Given the description of an element on the screen output the (x, y) to click on. 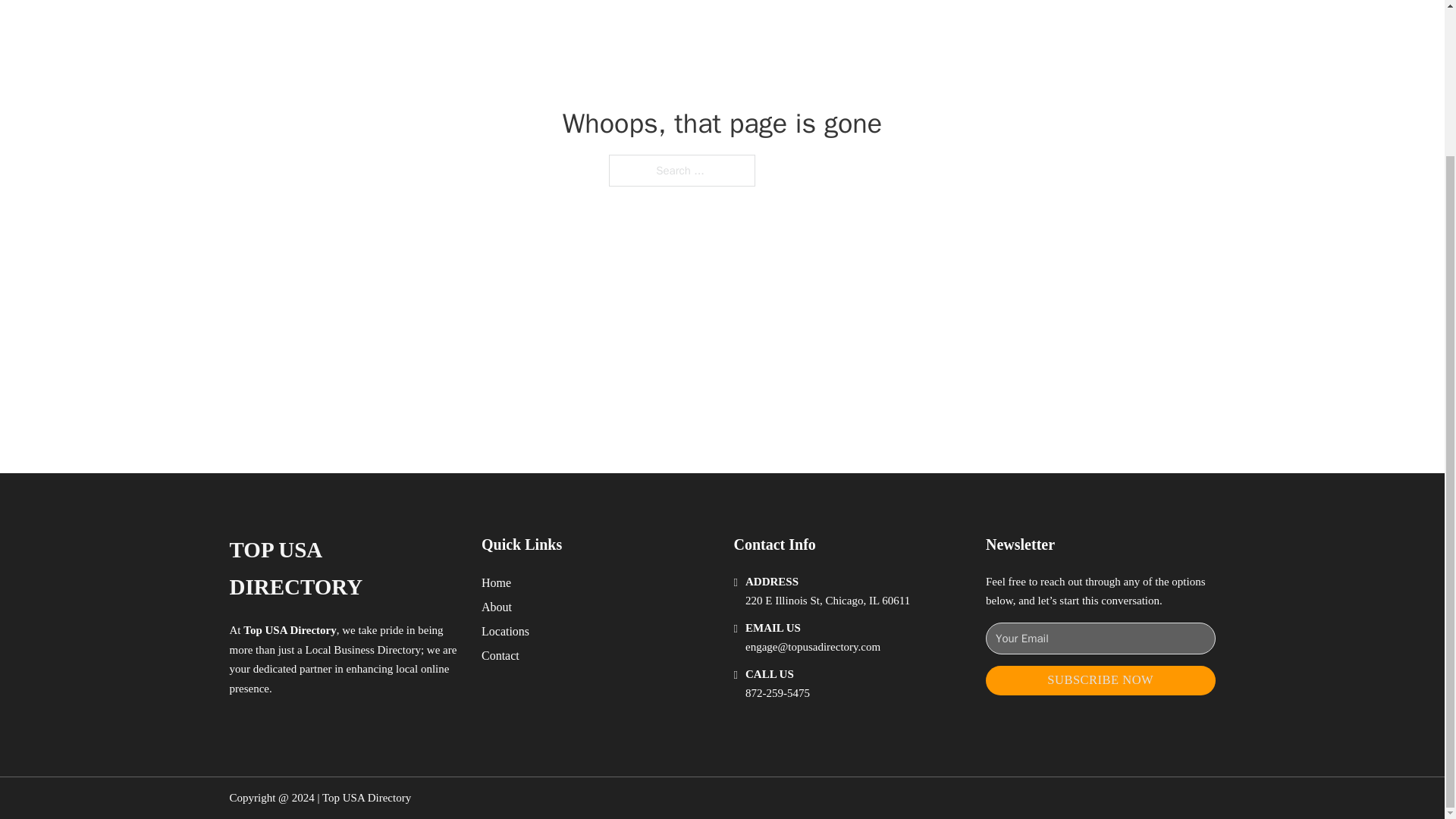
About (496, 607)
Contact (500, 655)
SUBSCRIBE NOW (1100, 680)
Home (496, 582)
TOP USA DIRECTORY (343, 568)
872-259-5475 (777, 693)
Locations (505, 630)
